Given the description of an element on the screen output the (x, y) to click on. 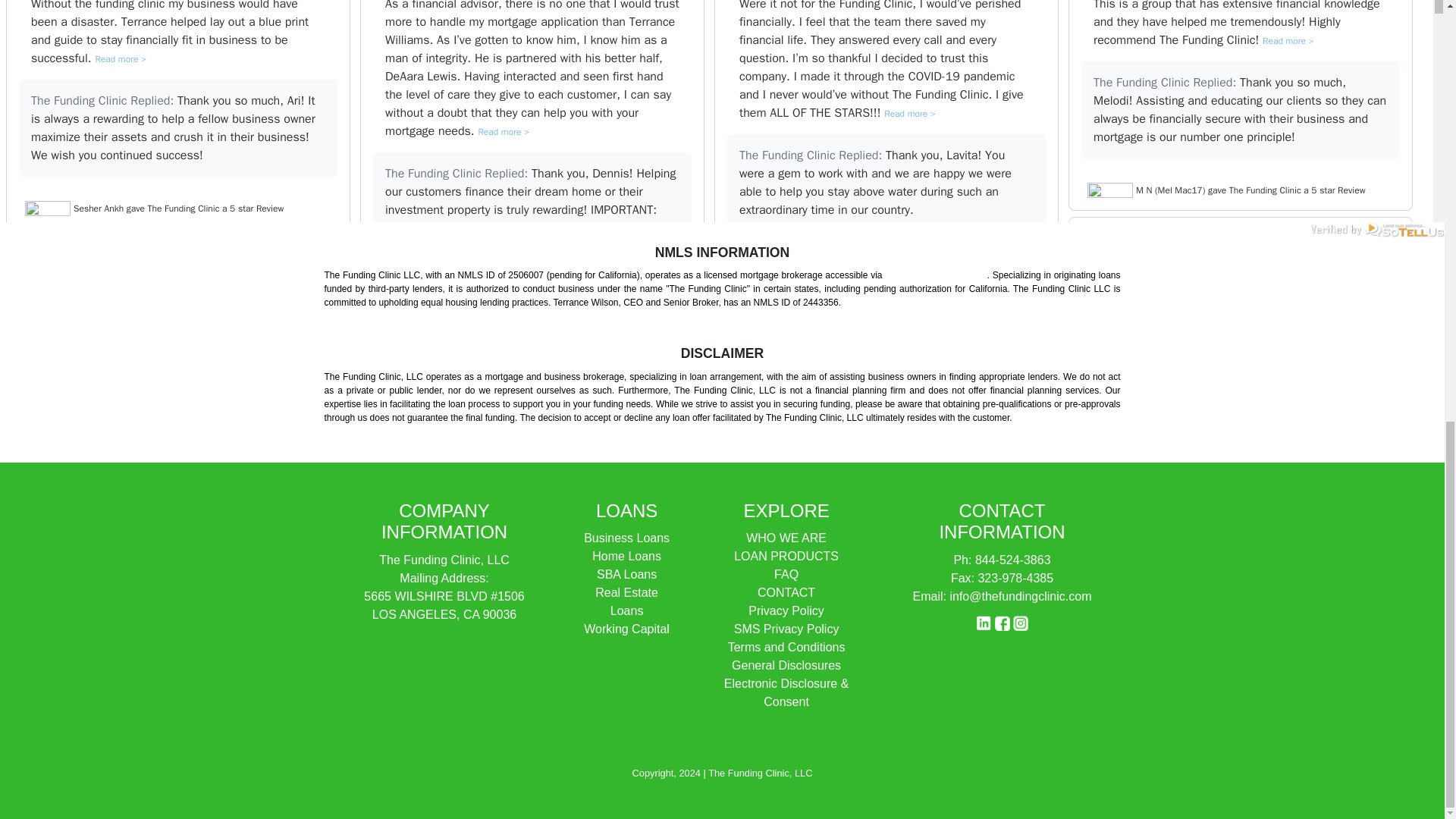
WHO WE ARE (786, 537)
Home Loans (626, 555)
CONTACT (786, 592)
LOAN PRODUCTS (785, 555)
Business Loans (626, 537)
SMS Privacy Policy (786, 628)
Privacy Policy (786, 610)
FAQ (785, 574)
Who We Are (786, 537)
Real Estate Loans (626, 601)
Terms and Conditions (786, 646)
SBA Loans (626, 574)
NMLS Consumer Access (936, 275)
General Disclosures (786, 665)
Working Capital (626, 628)
